Given the description of an element on the screen output the (x, y) to click on. 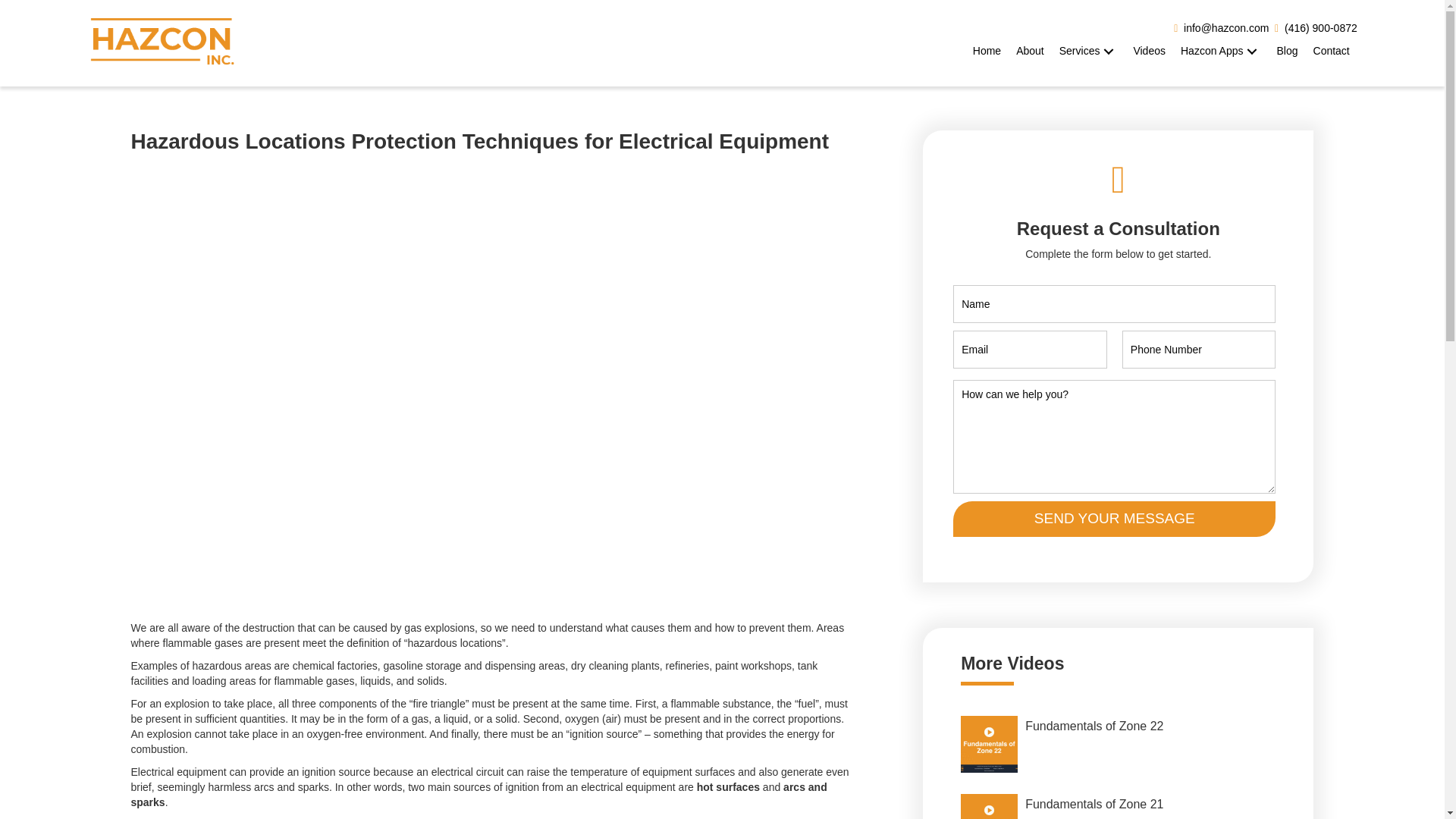
Home (987, 51)
Zone 22 (988, 744)
Fundamentals of Zone 21 (1117, 802)
Fundamentals of Zone 22 (1117, 744)
Zone 21 (988, 806)
Hazcon Apps (1221, 51)
About (1030, 51)
HAZCON-LOGOorange (162, 42)
Services (1088, 51)
SEND YOUR MESSAGE (1114, 519)
Blog (1286, 51)
Contact (1331, 51)
Videos (1149, 51)
SEND YOUR MESSAGE (1114, 519)
